Given the description of an element on the screen output the (x, y) to click on. 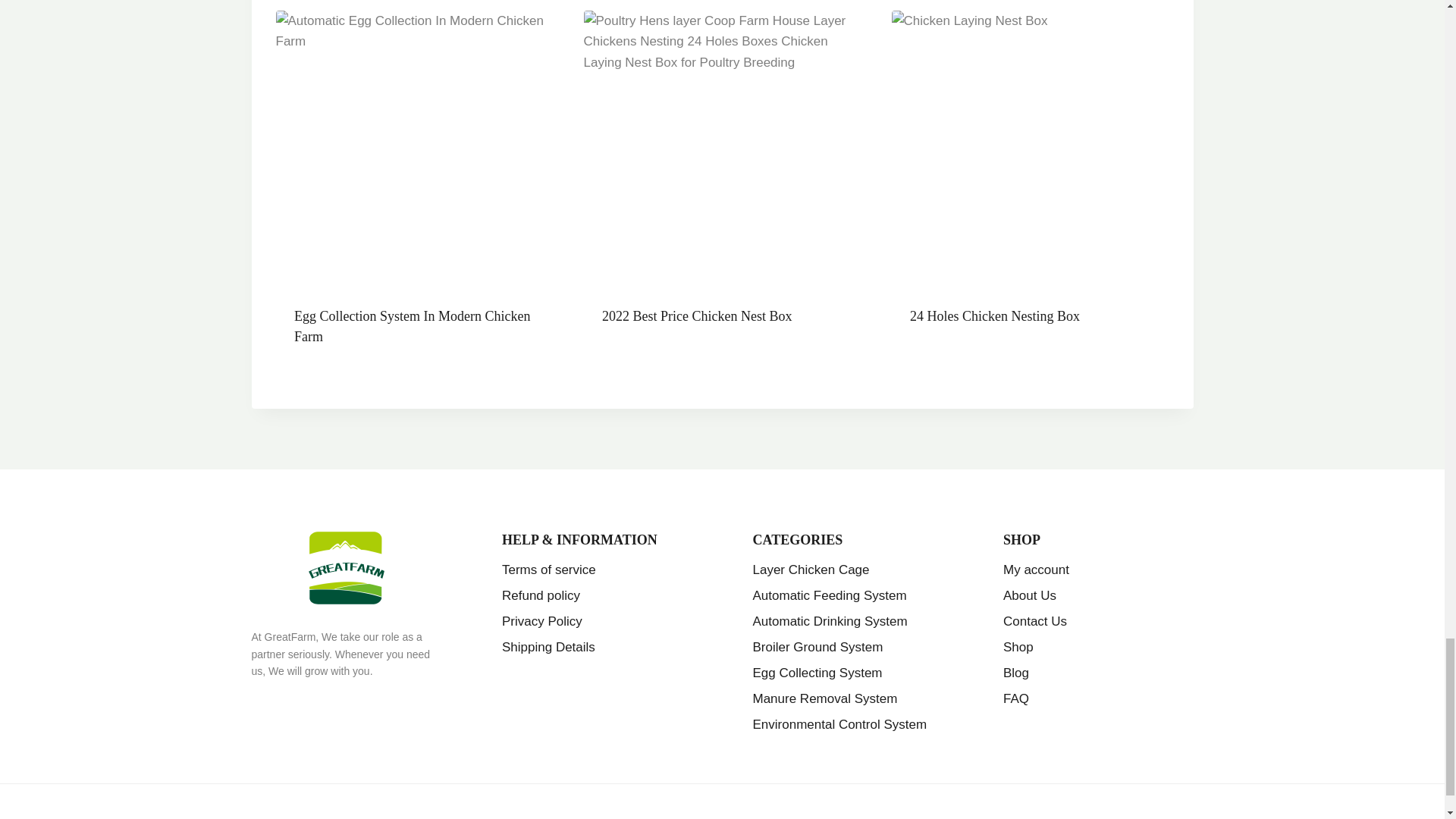
egg collection - China Chicken Cage - Great Farm (414, 149)
